Given the description of an element on the screen output the (x, y) to click on. 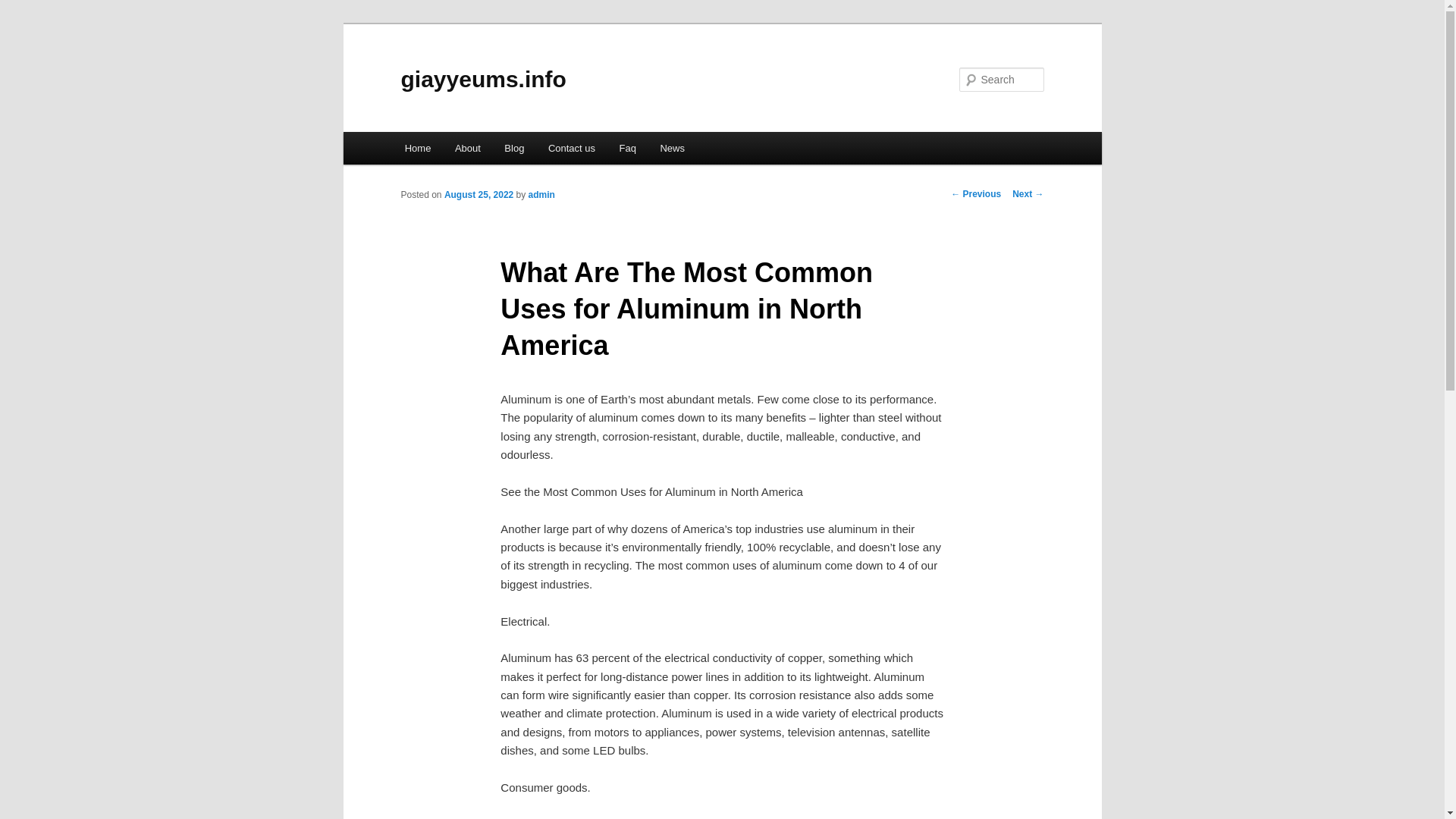
giayyeums.info (483, 78)
Home (417, 147)
Blog (515, 147)
admin (541, 194)
Faq (627, 147)
About (467, 147)
August 25, 2022 (478, 194)
About (467, 147)
Home (417, 147)
Blog (515, 147)
Search (24, 8)
11:55 am (478, 194)
Contact us (571, 147)
Contact us (571, 147)
